Given the description of an element on the screen output the (x, y) to click on. 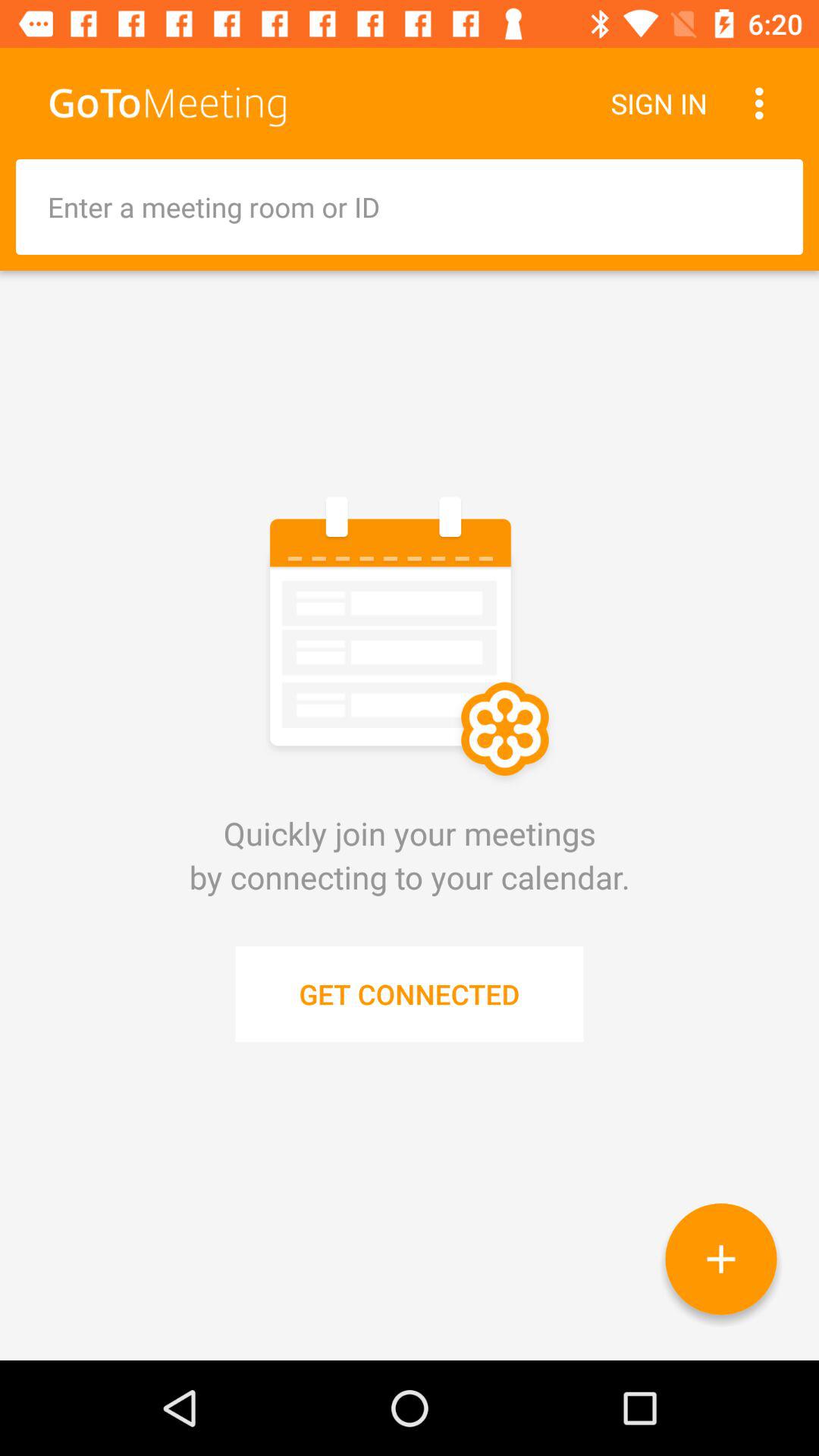
jump until the get connected icon (409, 993)
